Given the description of an element on the screen output the (x, y) to click on. 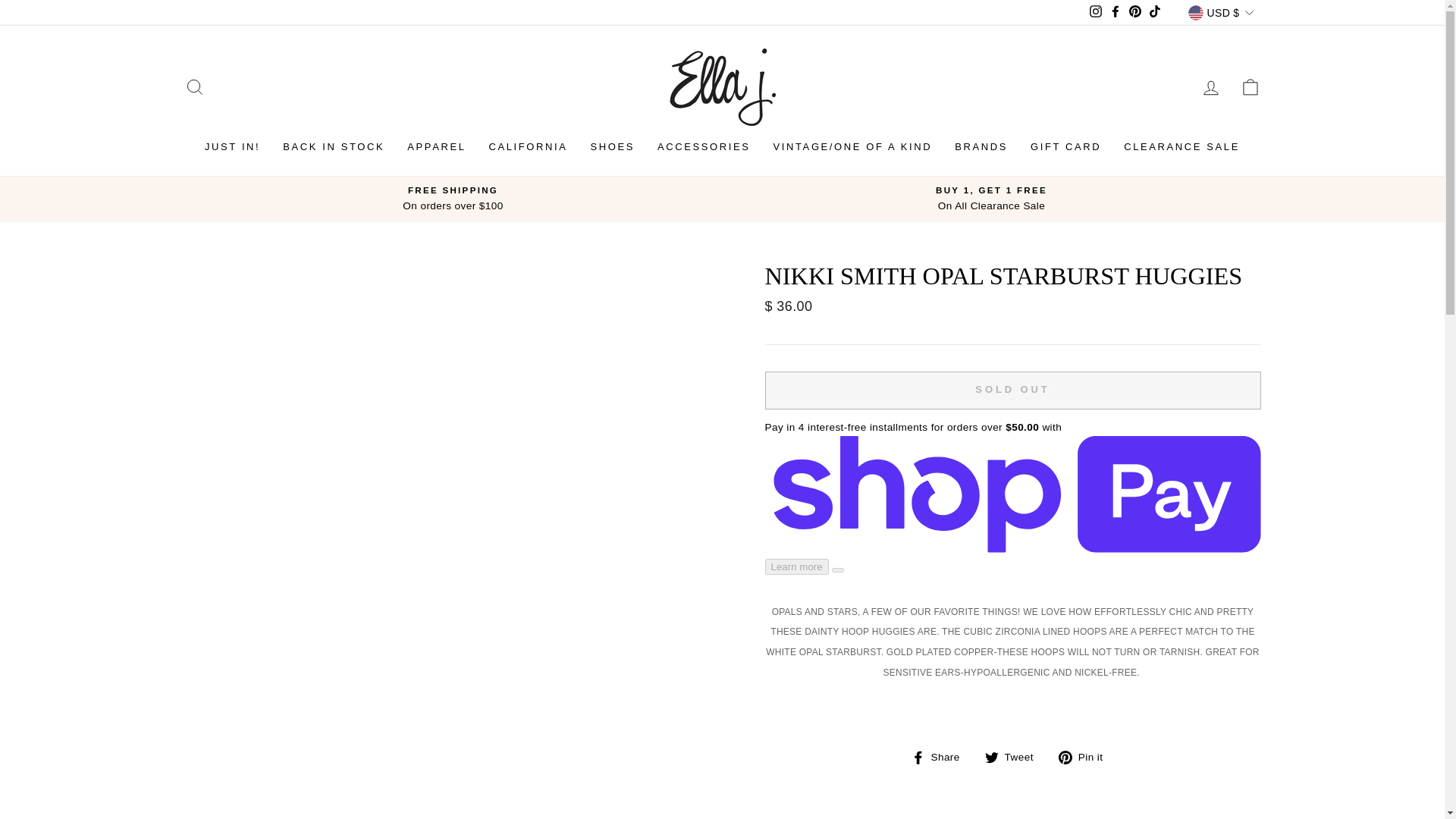
Tweet on Twitter (1015, 756)
Share on Facebook (941, 756)
Pin on Pinterest (1085, 756)
